Given the description of an element on the screen output the (x, y) to click on. 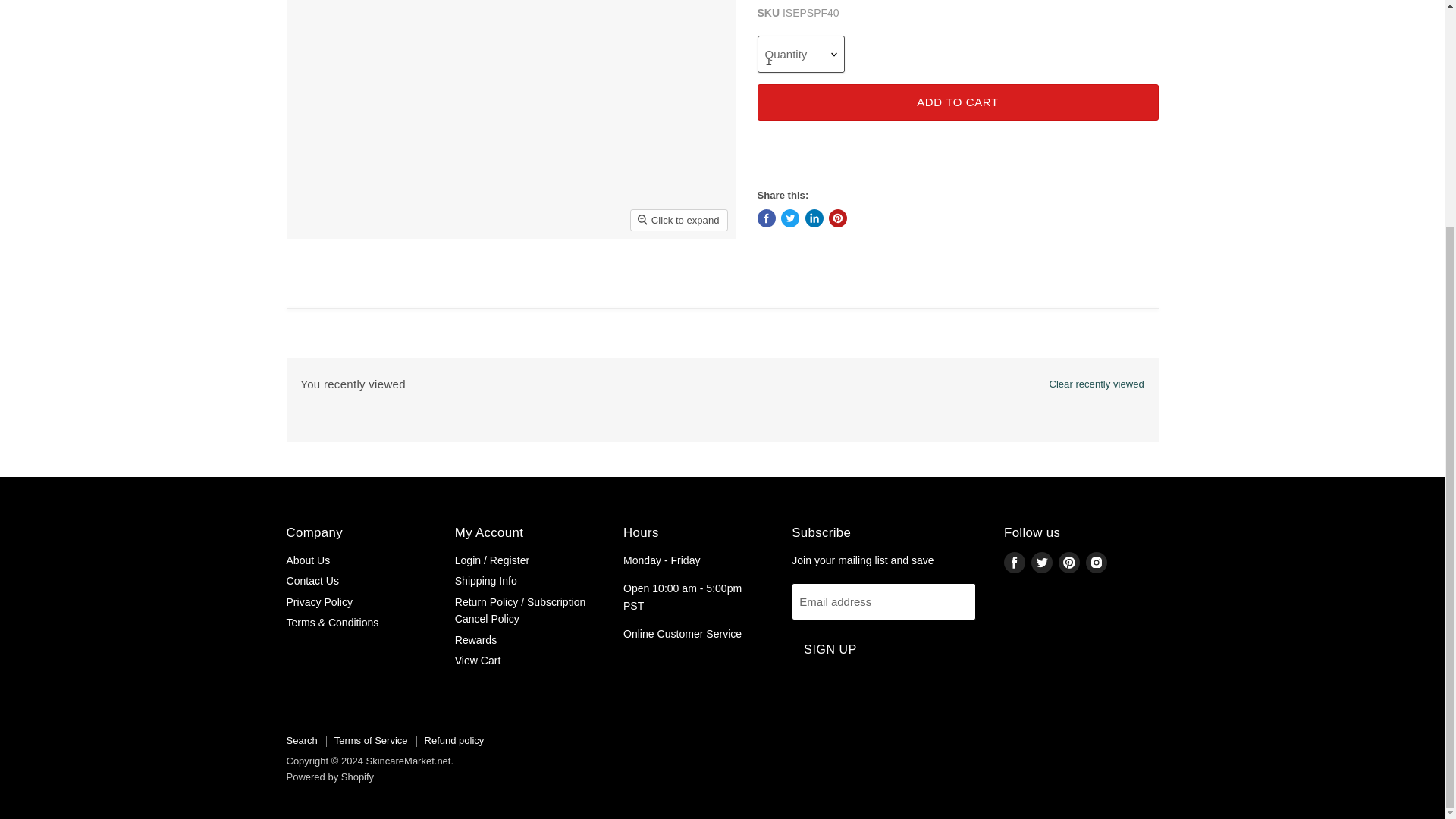
Twitter (1041, 562)
Facebook (1014, 562)
Instagram (1096, 562)
Pinterest (1069, 562)
